Given the description of an element on the screen output the (x, y) to click on. 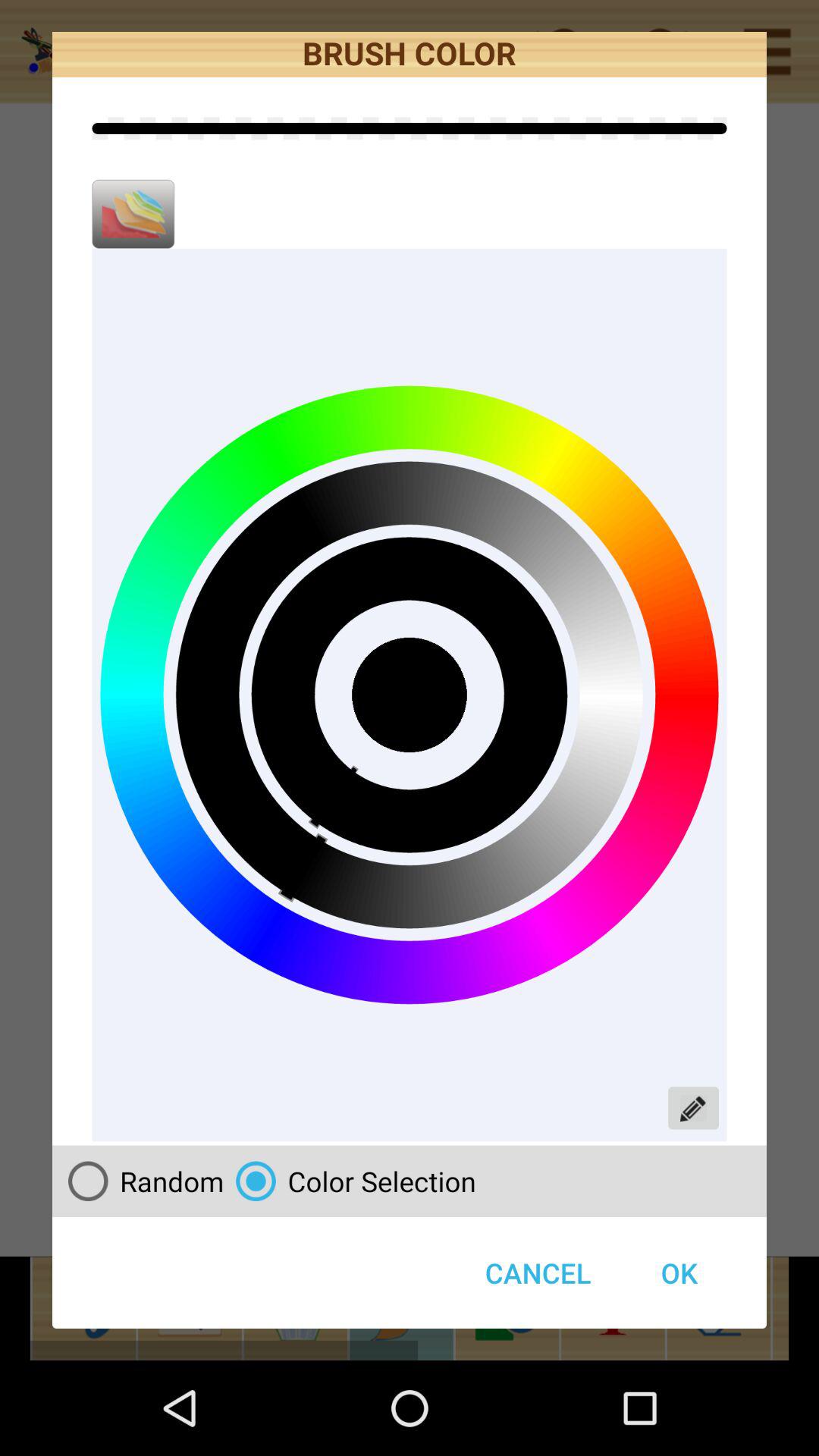
turn on the button next to ok item (538, 1272)
